Given the description of an element on the screen output the (x, y) to click on. 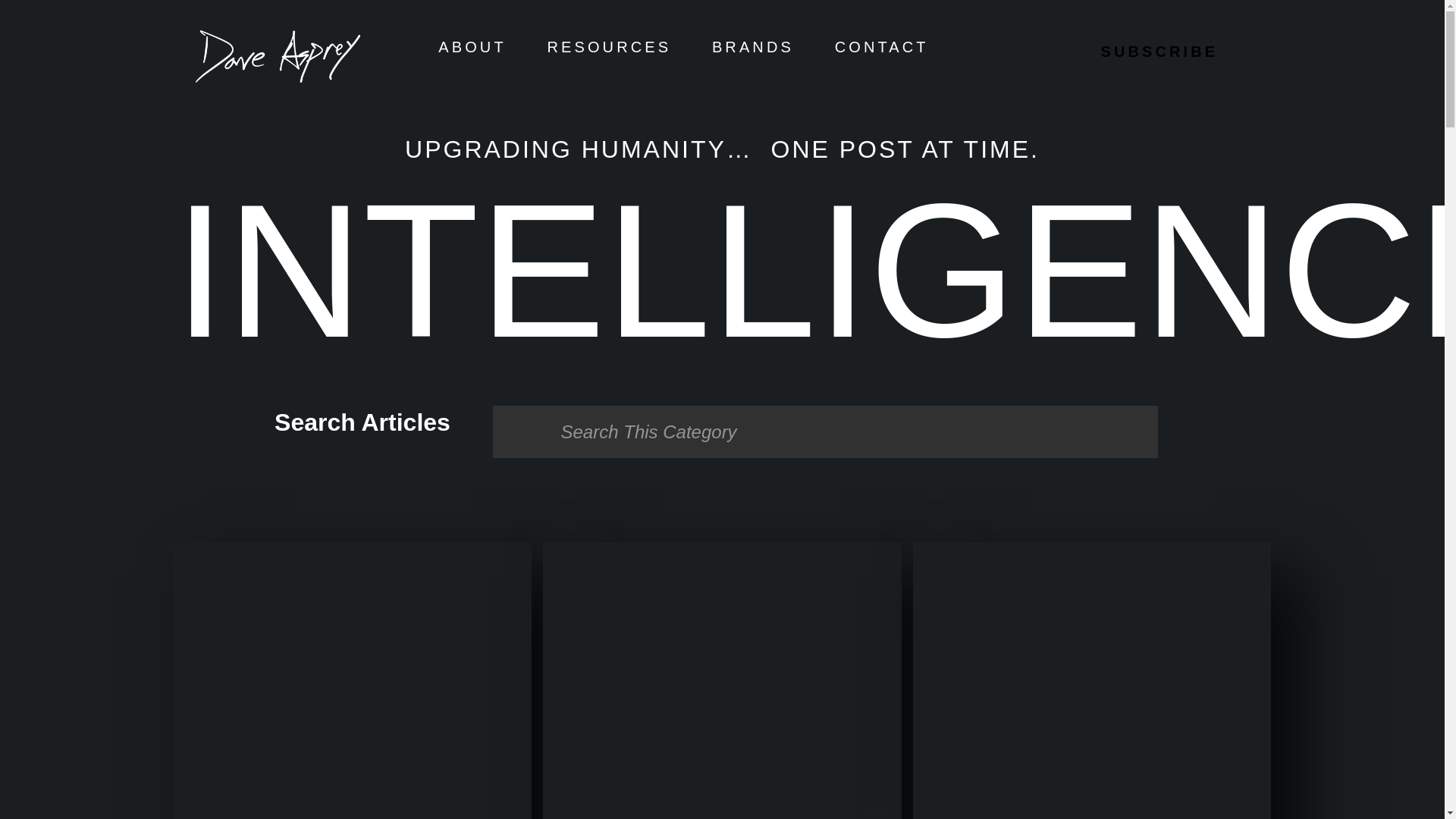
CONTACT (881, 46)
RESOURCES (609, 46)
Search (825, 431)
BRANDS (752, 46)
ABOUT (471, 46)
